Given the description of an element on the screen output the (x, y) to click on. 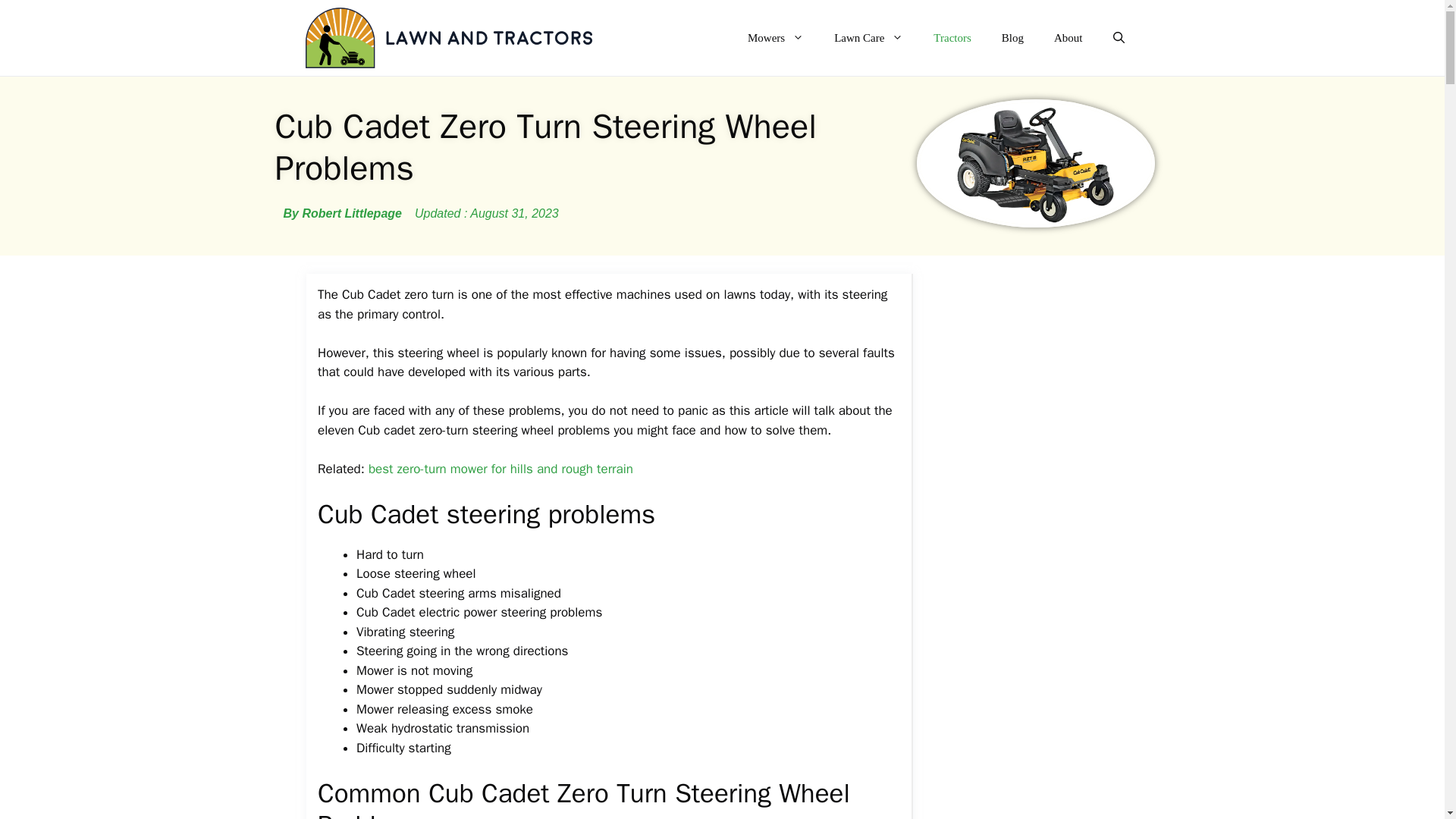
By Robert Littlepage (342, 213)
Tractors (951, 37)
Blog (1013, 37)
Mower On the Lawn (447, 38)
best zero-turn mower for hills and rough terrain (500, 468)
Lawn Care (868, 37)
About (1068, 37)
Mowers (775, 37)
Robert Littlepage (342, 213)
